Given the description of an element on the screen output the (x, y) to click on. 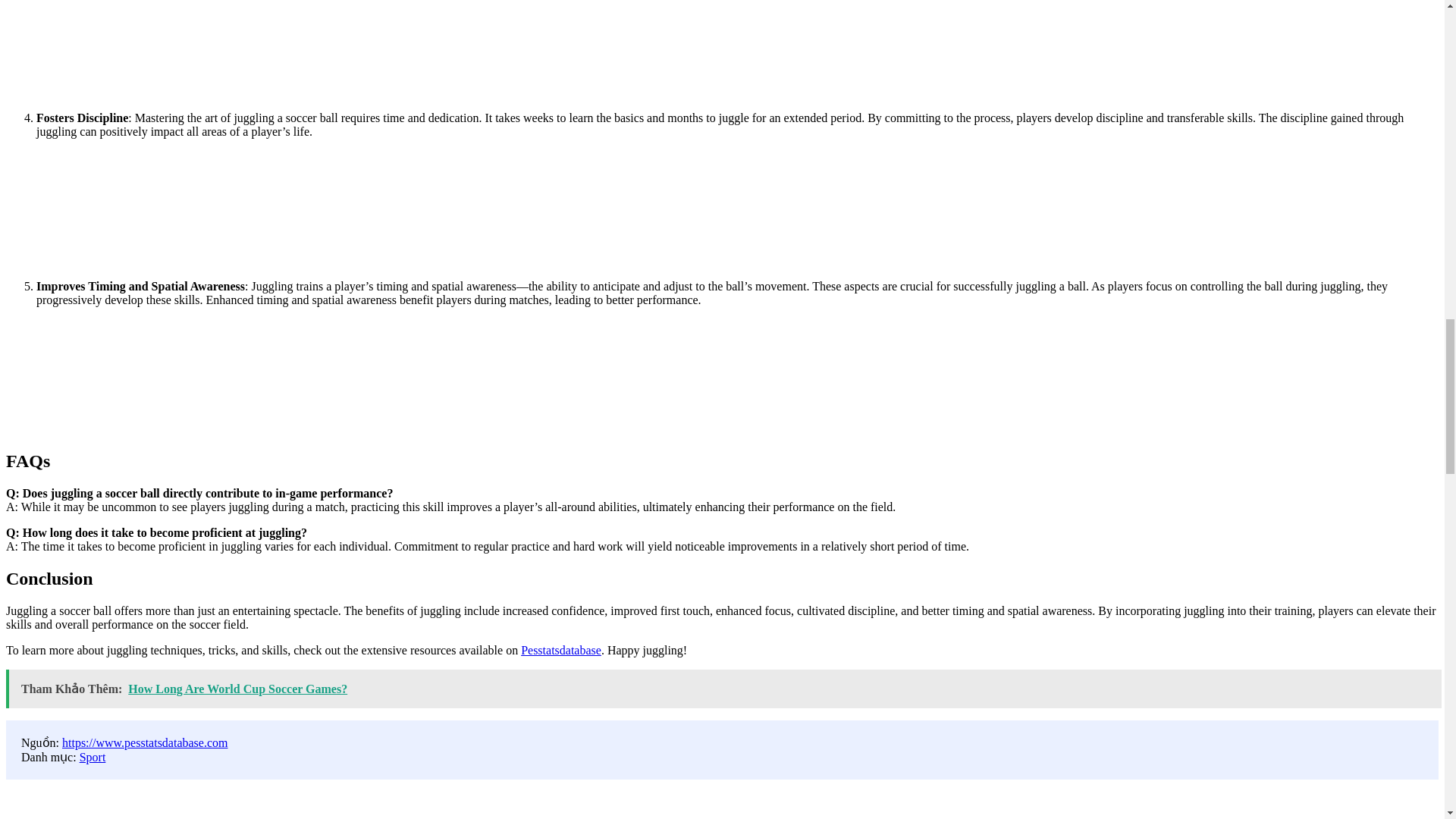
Sport (93, 757)
The Hidden Benefits of Juggling a Soccer Ball (722, 808)
Pesstatsdatabase (561, 649)
